Given the description of an element on the screen output the (x, y) to click on. 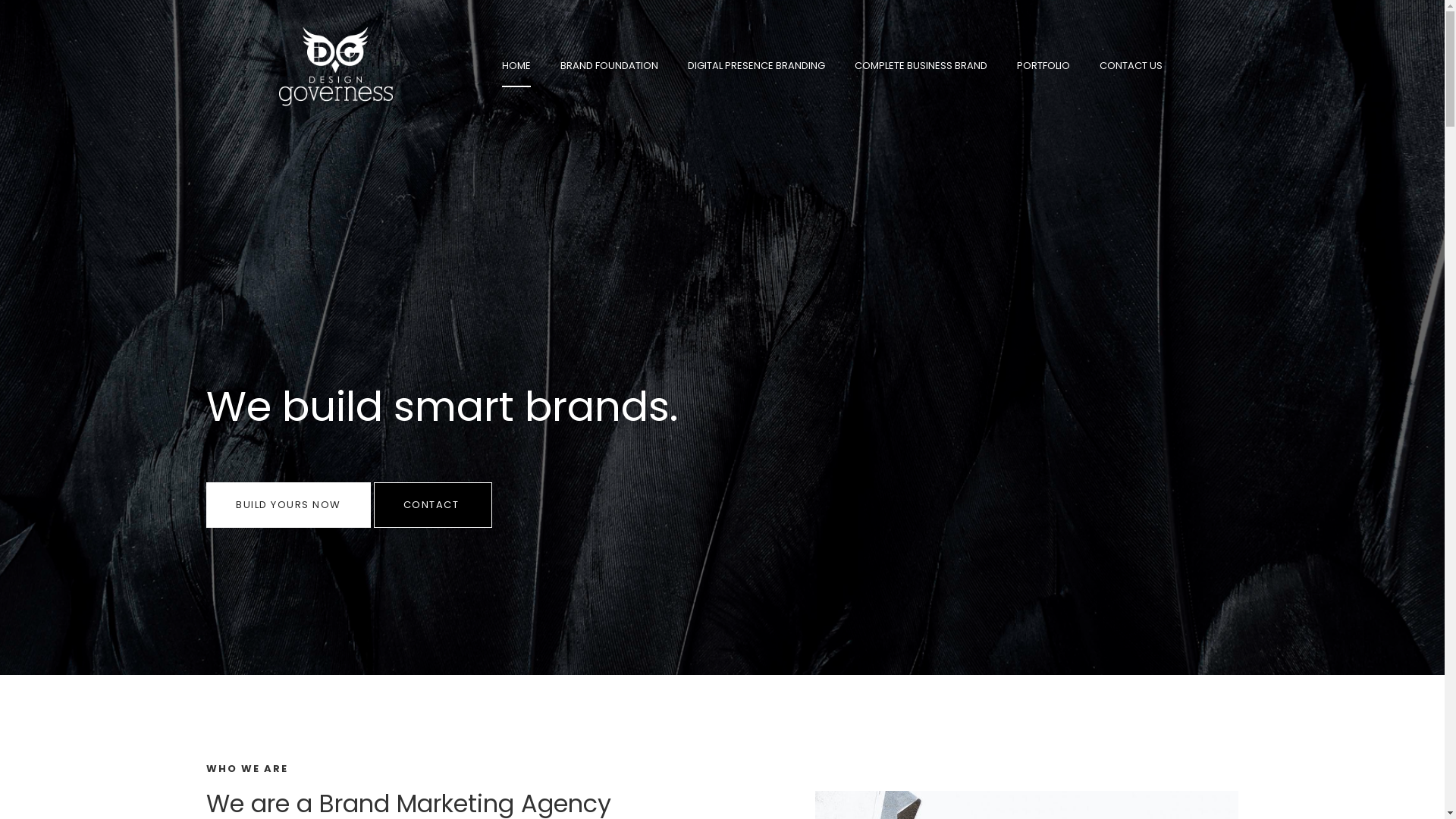
HOME Element type: text (515, 66)
COMPLETE BUSINESS BRAND Element type: text (921, 66)
BUILD YOURS NOW Element type: text (288, 505)
CONTACT US Element type: text (1130, 66)
DIGITAL PRESENCE BRANDING Element type: text (756, 66)
CONTACT  Element type: text (432, 505)
PORTFOLIO Element type: text (1043, 66)
BRAND FOUNDATION Element type: text (609, 66)
